Given the description of an element on the screen output the (x, y) to click on. 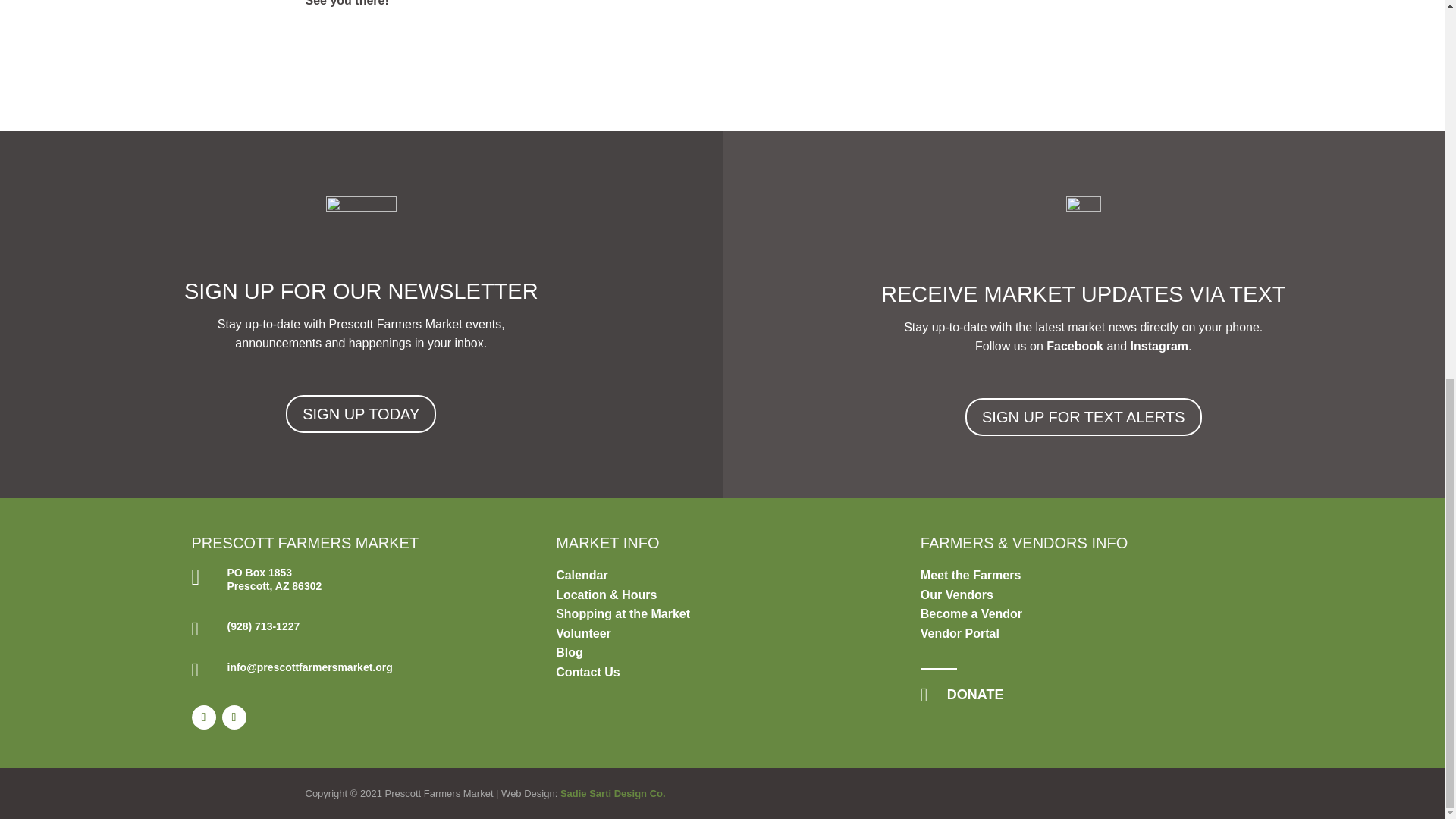
Follow on Instagram (233, 717)
Follow on Facebook (202, 717)
PFM-icon-mail (361, 225)
